Given the description of an element on the screen output the (x, y) to click on. 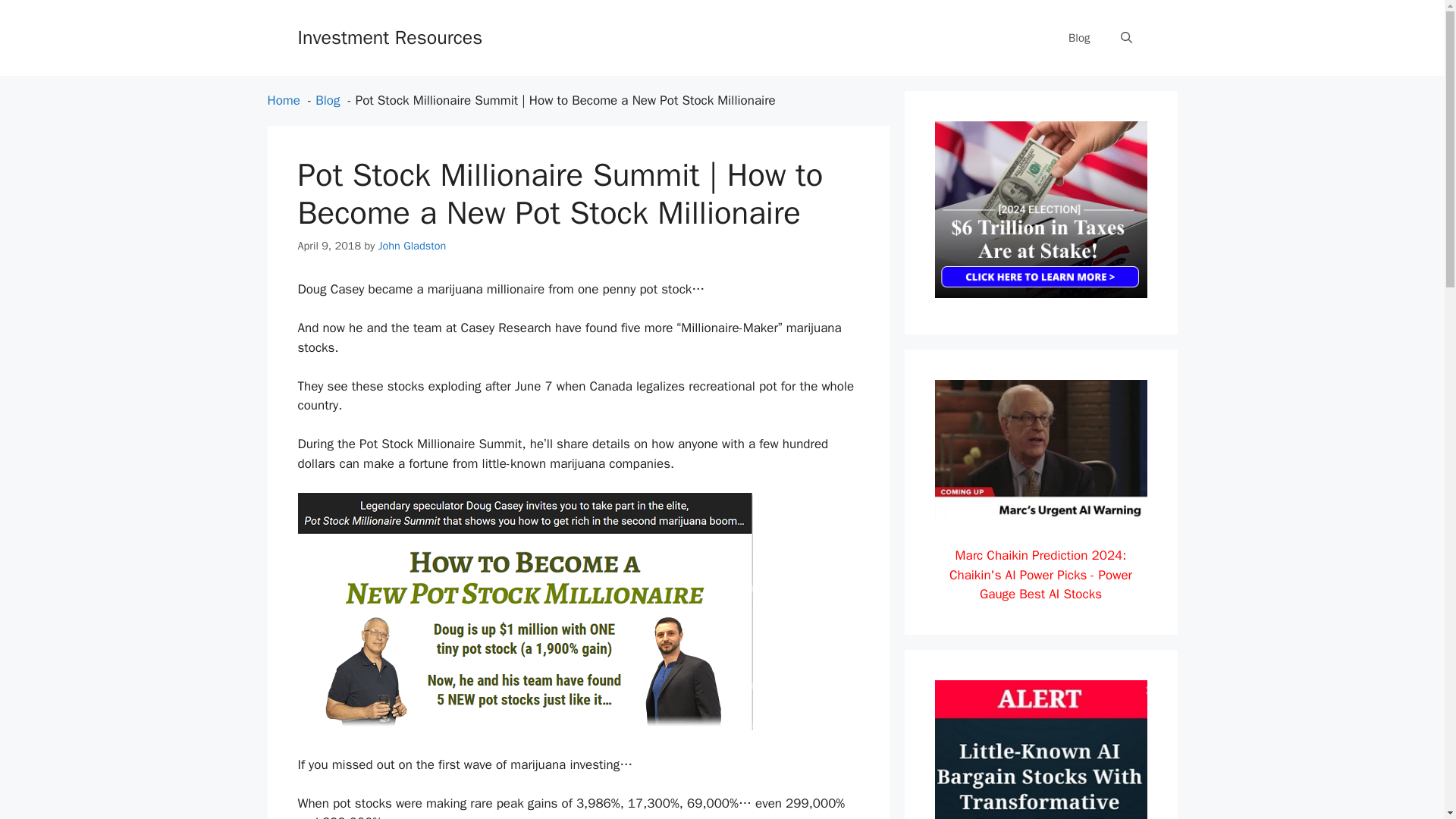
Blog (1078, 37)
Home (282, 100)
View all posts by John Gladston (412, 244)
John Gladston (412, 244)
Investment Resources (389, 37)
Blog (327, 100)
